Given the description of an element on the screen output the (x, y) to click on. 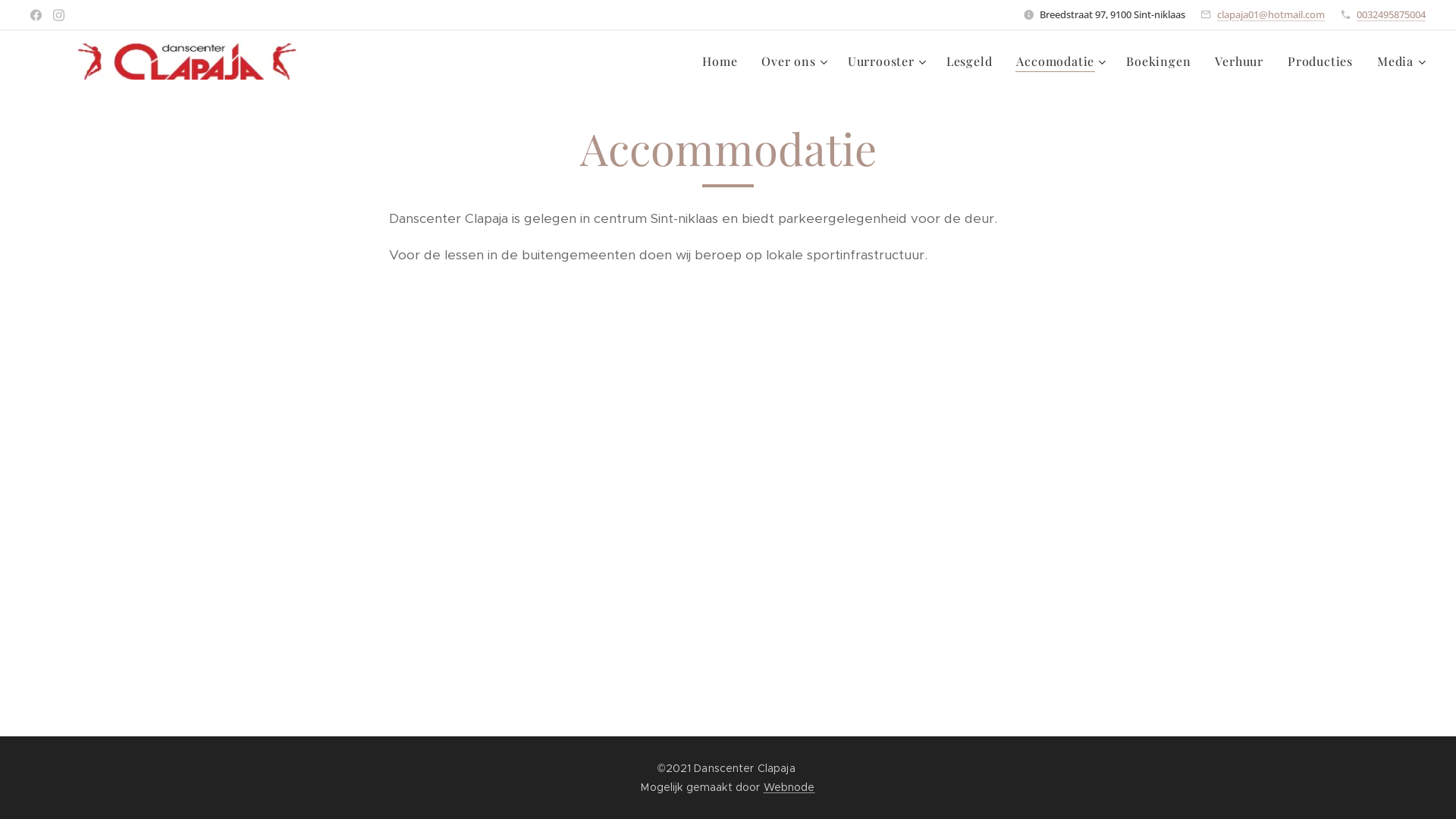
Producties Element type: text (1320, 61)
Over ons Element type: text (791, 61)
Home Element type: text (723, 61)
Media Element type: text (1395, 61)
Lesgeld Element type: text (969, 61)
Instagram Element type: hover (58, 15)
Boekingen Element type: text (1157, 61)
0032495875004 Element type: text (1390, 14)
Webnode Element type: text (789, 786)
Accomodatie Element type: text (1058, 61)
Facebook Element type: hover (35, 15)
Uurrooster Element type: text (884, 61)
Verhuur Element type: text (1238, 61)
clapaja01@hotmail.com Element type: text (1270, 14)
